Given the description of an element on the screen output the (x, y) to click on. 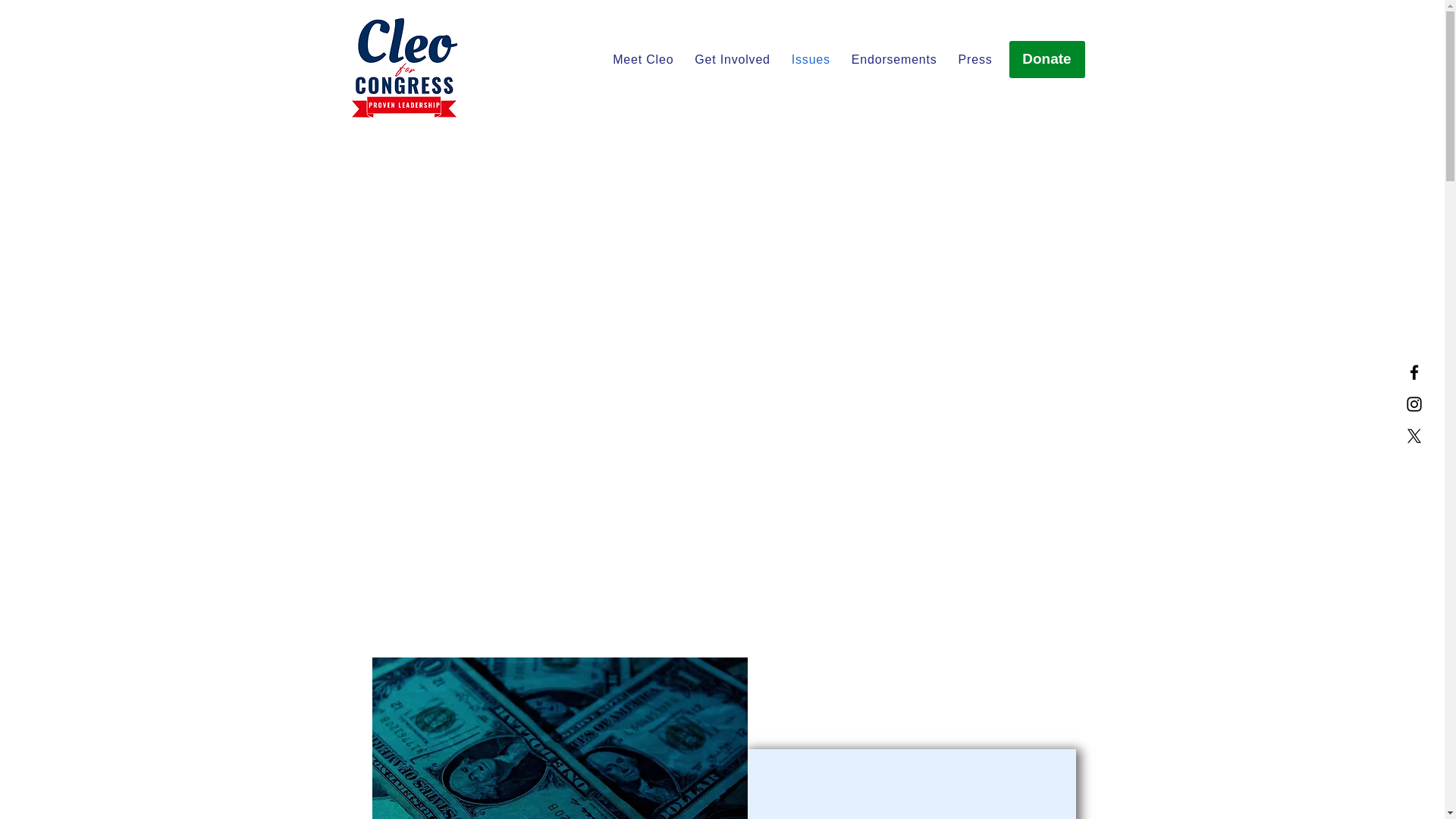
Meet Cleo (642, 59)
Endorsements (893, 59)
Issues (810, 59)
Get Involved (731, 59)
Press (975, 59)
Donate (1046, 58)
